Given the description of an element on the screen output the (x, y) to click on. 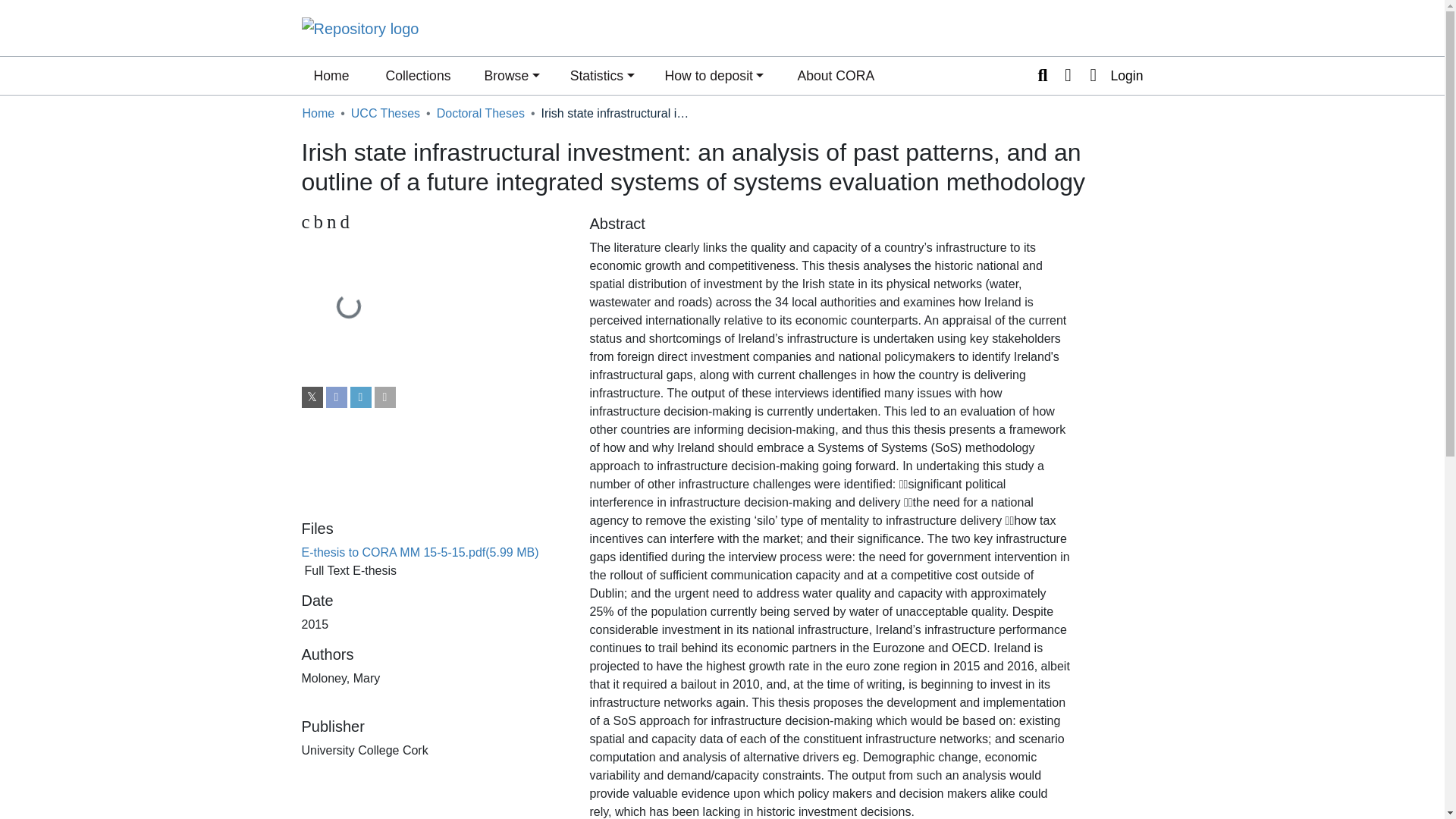
Search (1041, 75)
Home (317, 113)
Language switch (1067, 75)
Home (331, 75)
How to deposit (714, 75)
Browse (510, 75)
Collections (417, 75)
About CORA (835, 75)
Login (1111, 75)
UCC Theses (385, 113)
